Given the description of an element on the screen output the (x, y) to click on. 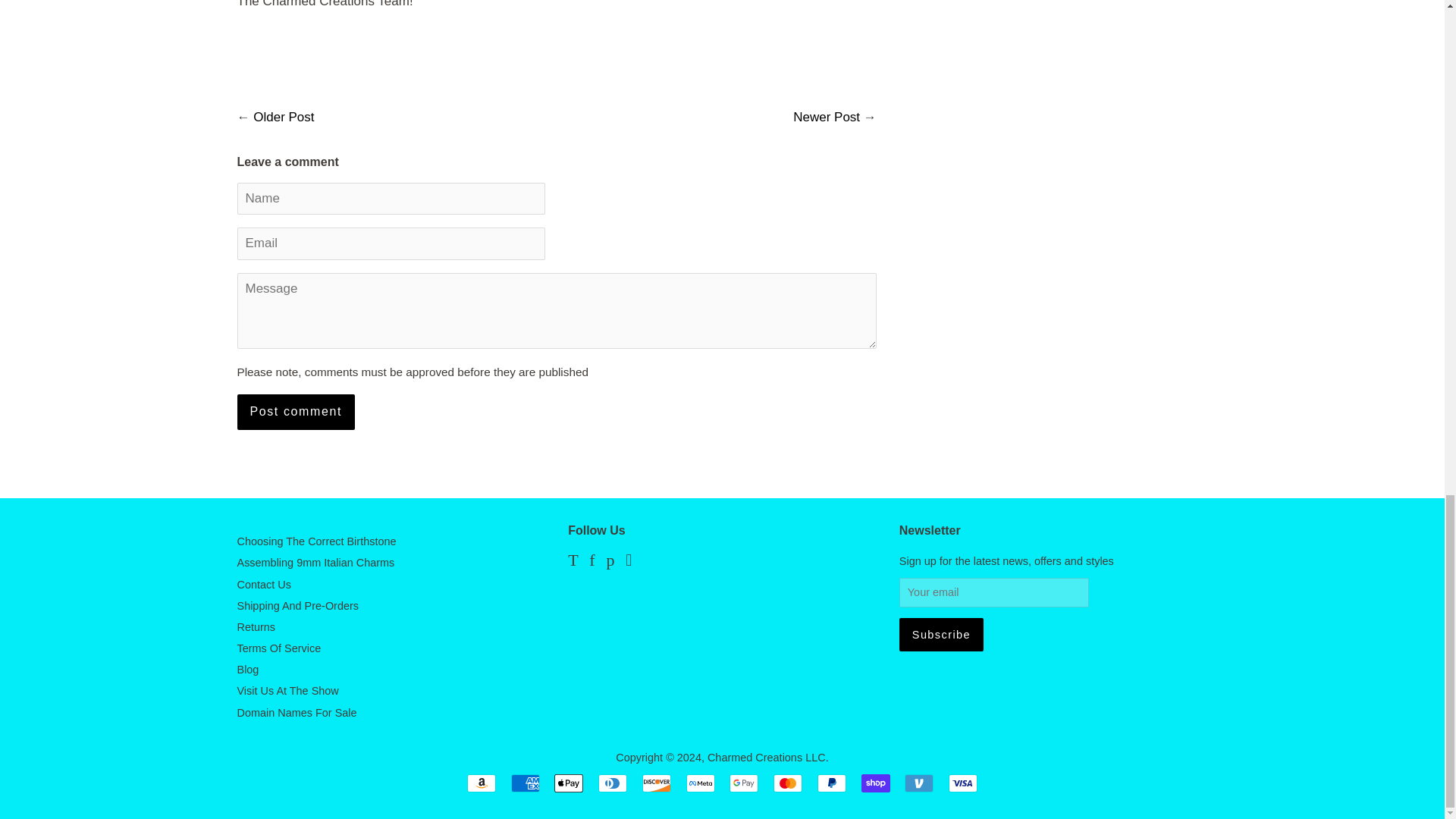
Venmo (918, 782)
Meta Pay (699, 782)
Discover (656, 782)
Diners Club (612, 782)
Apple Pay (568, 782)
American Express (525, 782)
Mastercard (787, 782)
Subscribe (941, 634)
Shop Pay (875, 782)
PayPal (830, 782)
